Given the description of an element on the screen output the (x, y) to click on. 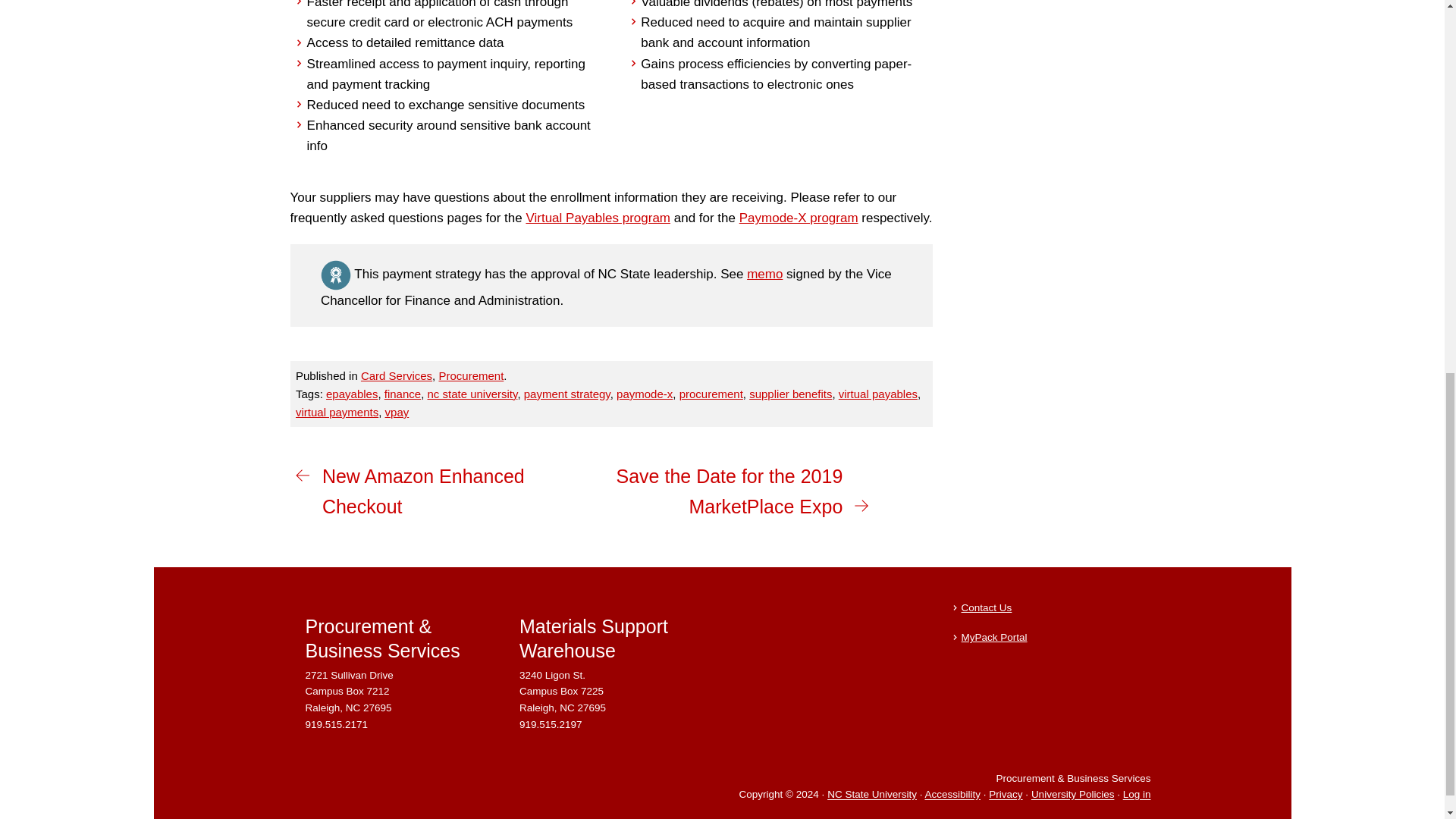
Virtual Payables program (597, 217)
